Given the description of an element on the screen output the (x, y) to click on. 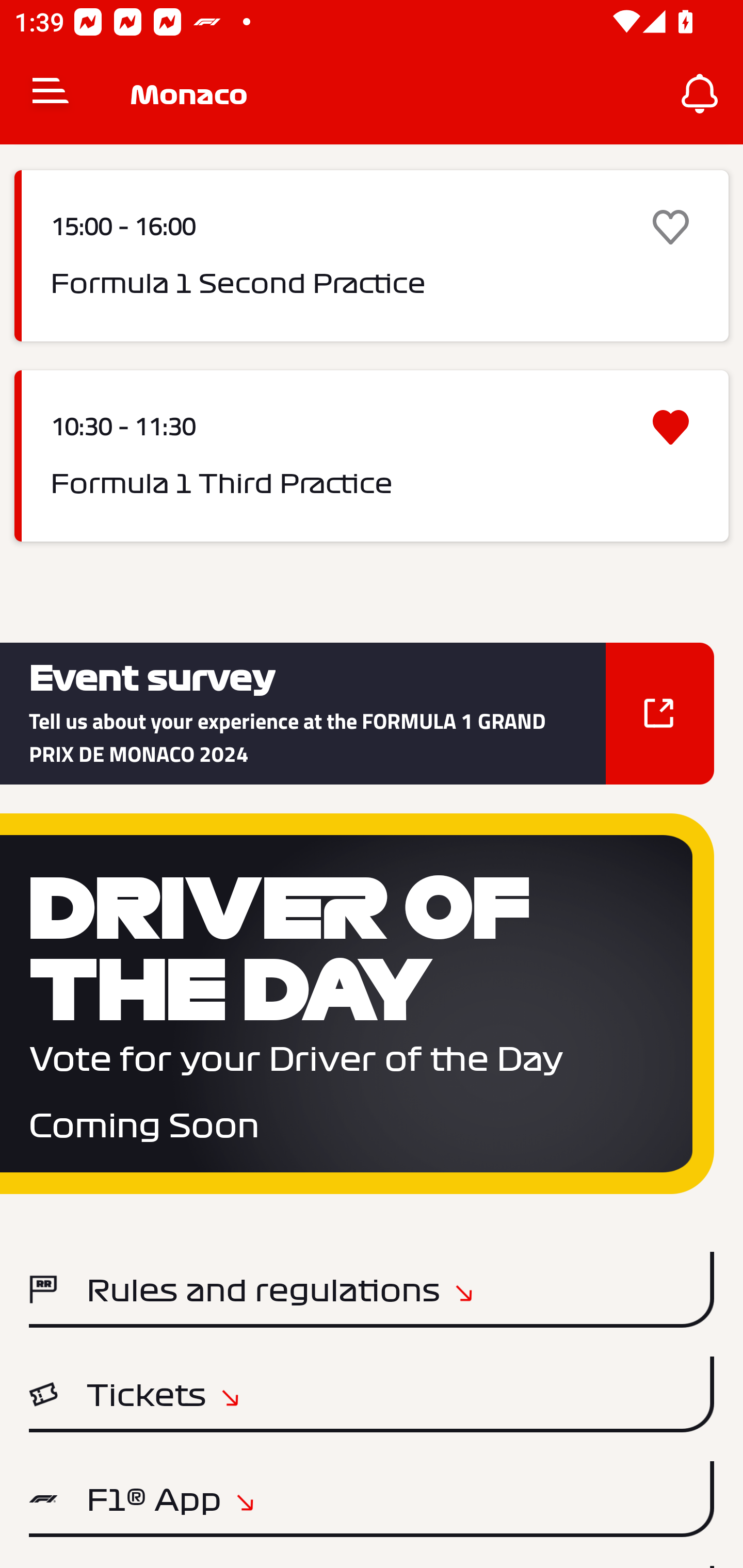
Navigate up (50, 93)
Notifications (699, 93)
15:00 - 16:00 Formula 1 Second Practice (371, 255)
10:30 - 11:30 Formula 1 Third Practice (371, 455)
Rules and regulations (371, 1289)
Tickets (371, 1393)
F1® App (371, 1498)
